Given the description of an element on the screen output the (x, y) to click on. 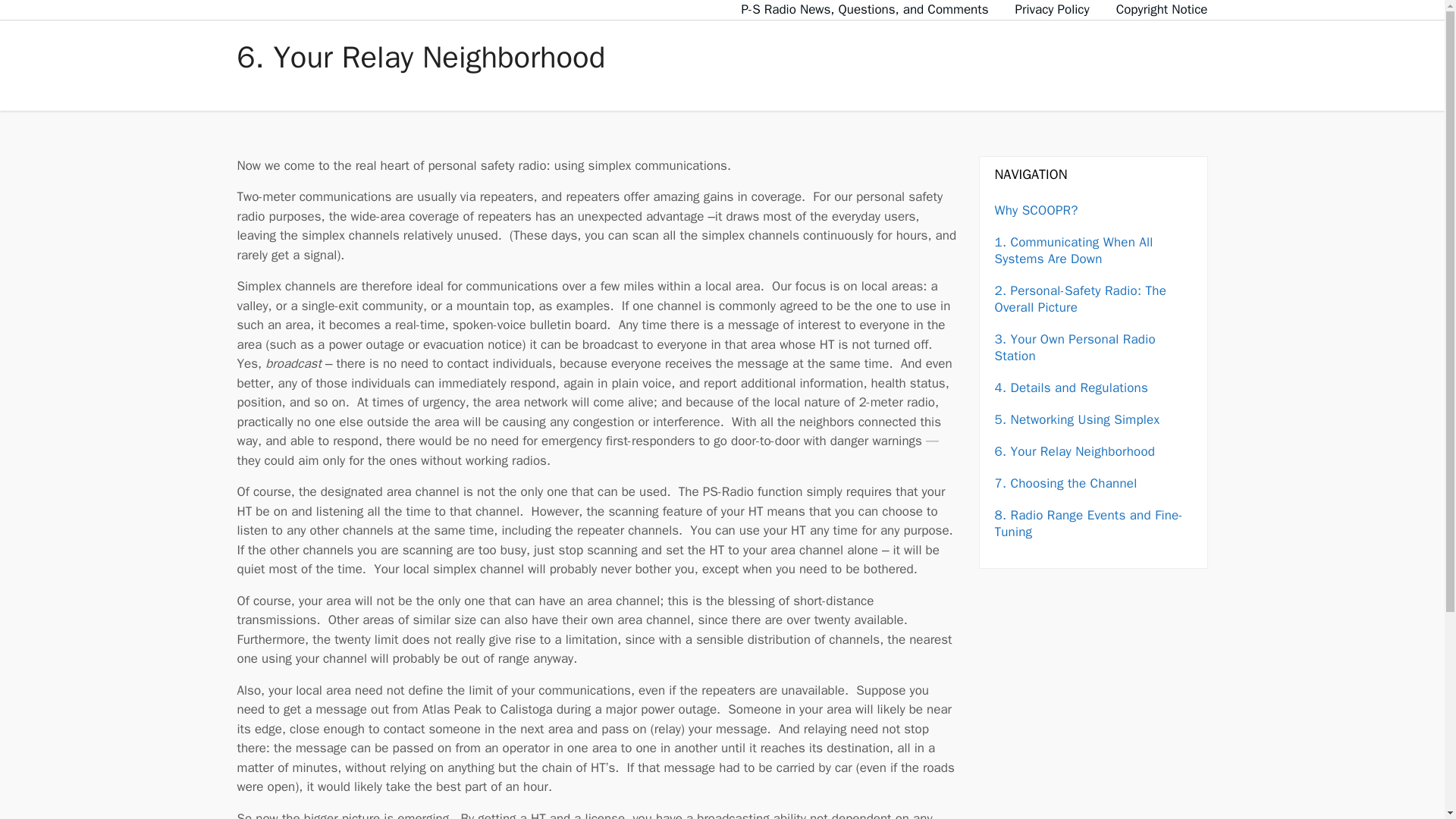
Copyright Notice (1162, 9)
Privacy Policy (1051, 9)
3. Your Own Personal Radio Station (1075, 346)
6. Your Relay Neighborhood (1075, 450)
P-S Radio News, Questions, and Comments (864, 9)
P-S Radio News, Questions, and Comments (864, 9)
4. Details and Regulations (1071, 386)
Privacy Policy (1051, 9)
Why SCOOPR? (1036, 209)
2. Personal-Safety Radio: The Overall Picture (1080, 297)
5. Networking Using Simplex (1077, 418)
1. Communicating When All Systems Are Down (1073, 249)
8. Radio Range Events and Fine-Tuning (1088, 522)
Copyright Notice (1162, 9)
7. Choosing the Channel (1065, 482)
